Given the description of an element on the screen output the (x, y) to click on. 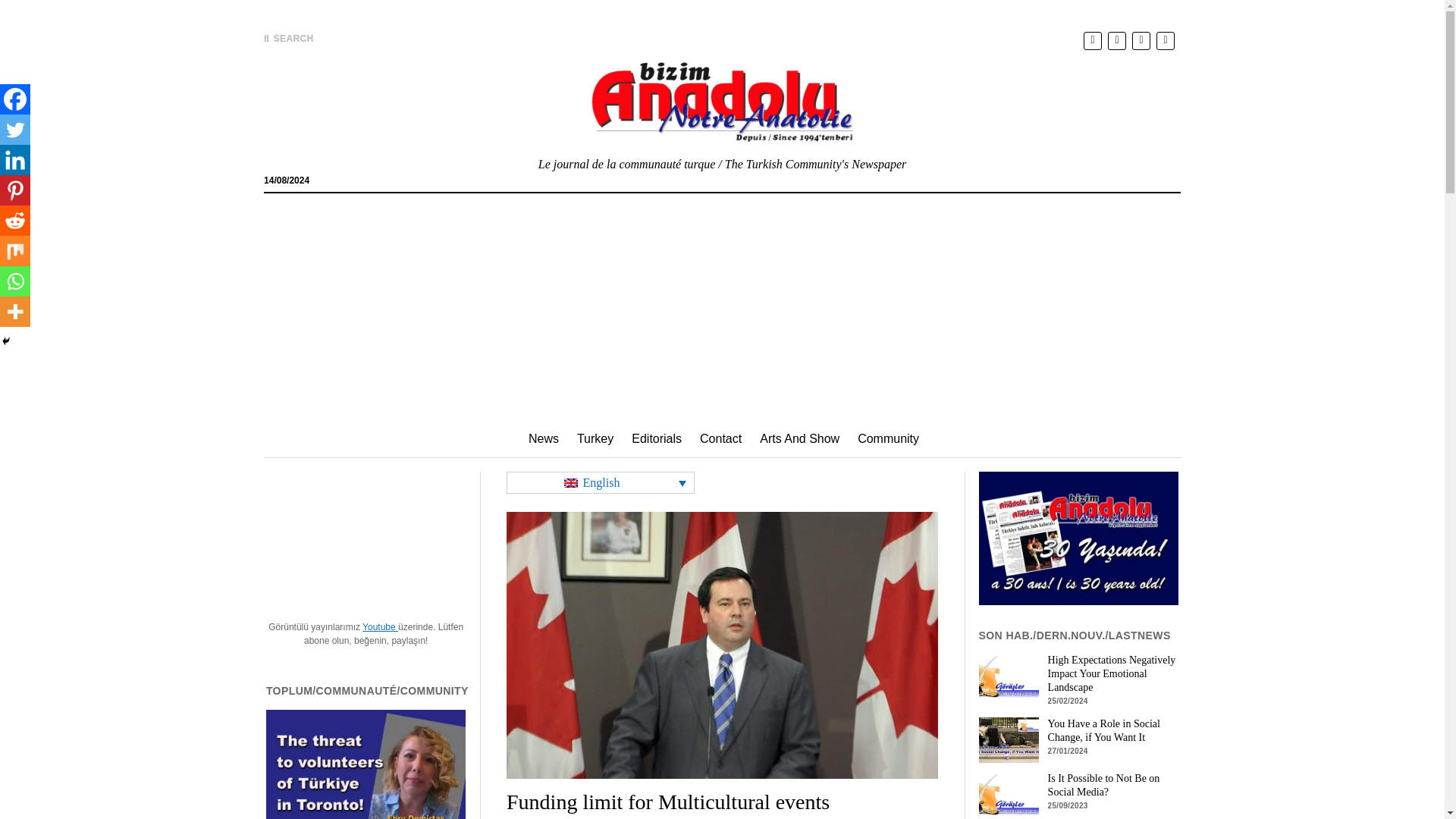
Contact (720, 438)
Turkey (595, 438)
Arts And Show (799, 438)
Youtube (379, 626)
Search (945, 129)
English (600, 482)
SEARCH (288, 38)
Editorials (656, 438)
News (543, 438)
